Given the description of an element on the screen output the (x, y) to click on. 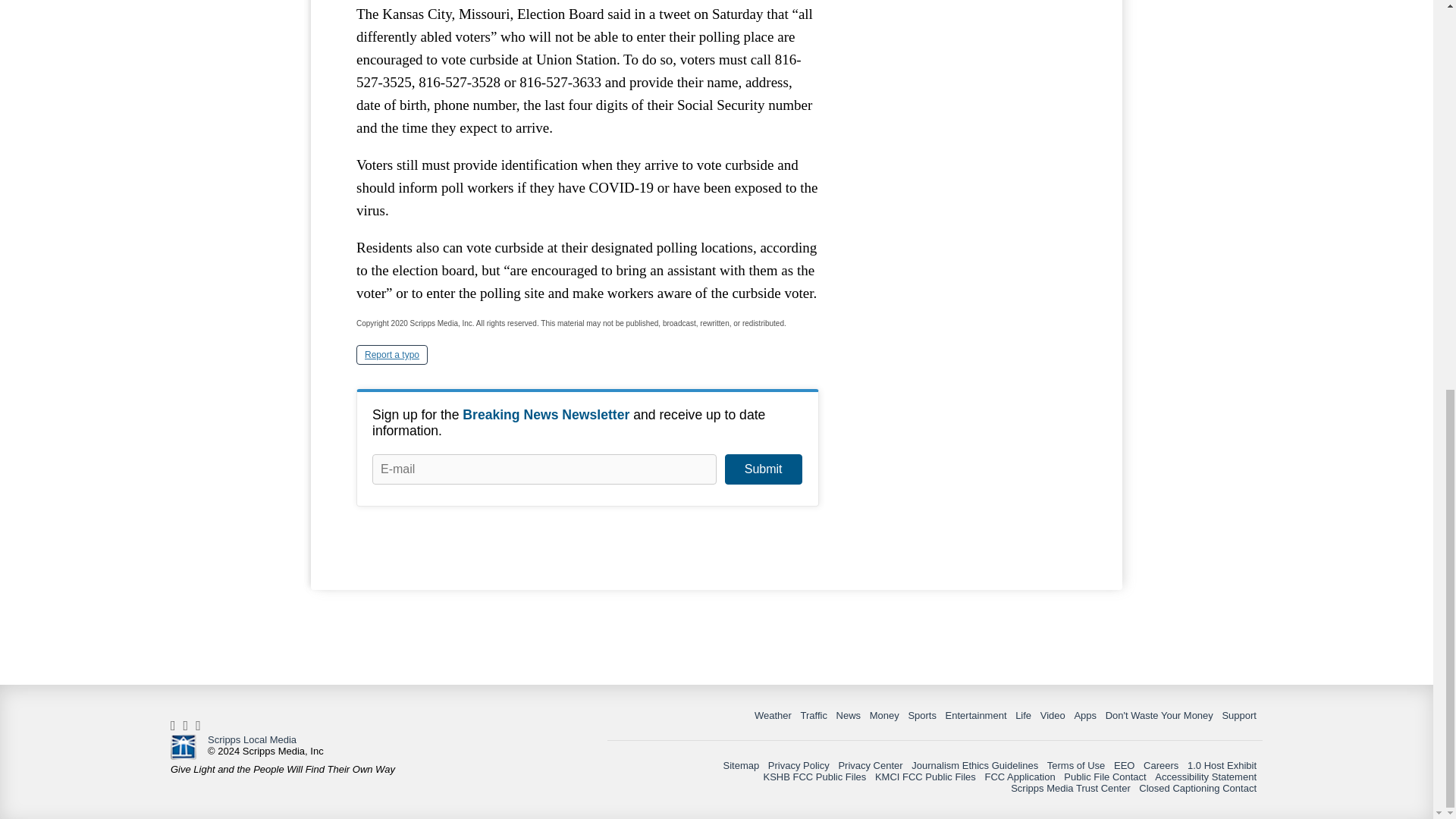
Submit (763, 469)
